Given the description of an element on the screen output the (x, y) to click on. 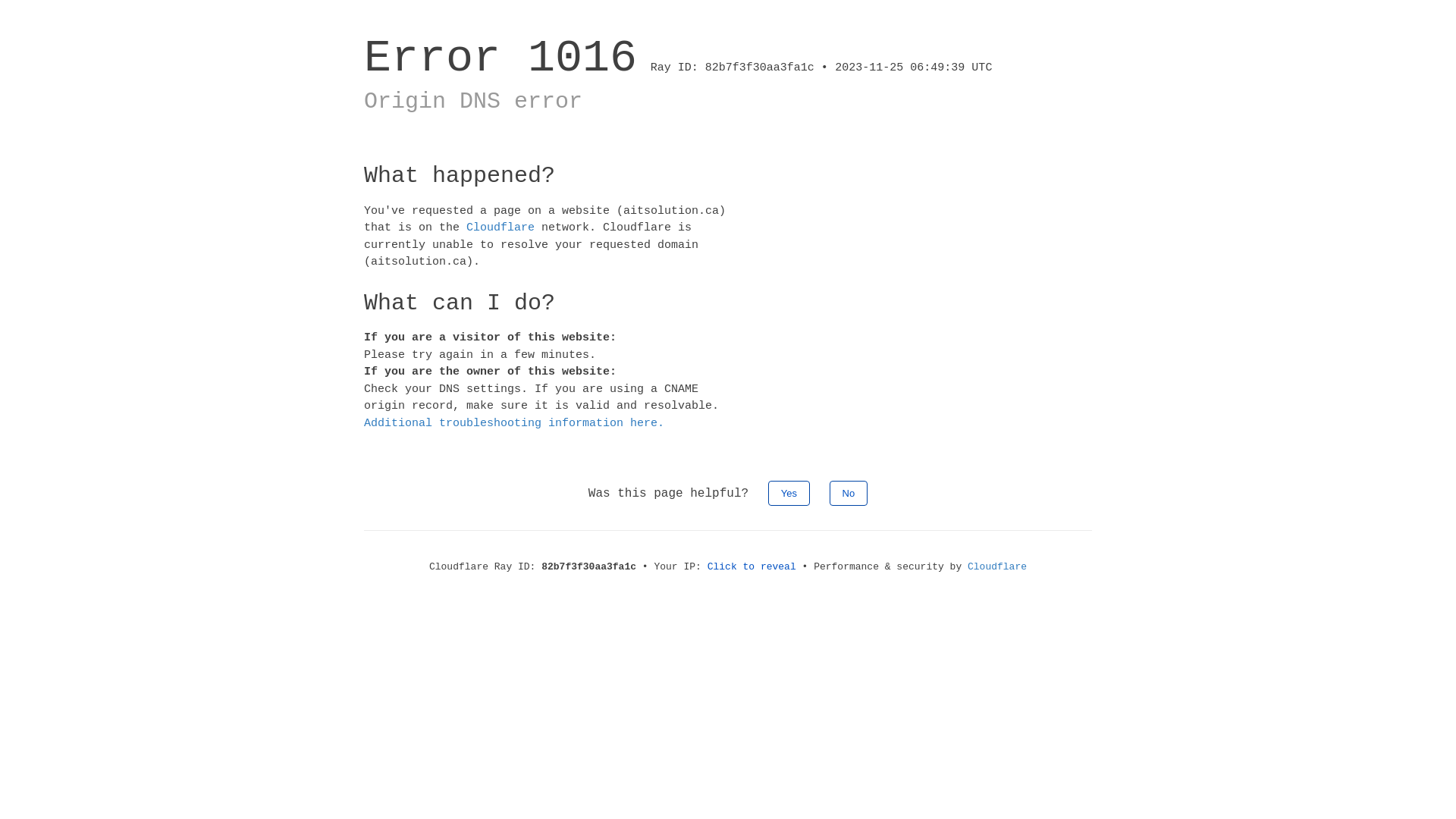
No Element type: text (848, 492)
Cloudflare Element type: text (500, 227)
Cloudflare Element type: text (996, 566)
Additional troubleshooting information here. Element type: text (514, 423)
Click to reveal Element type: text (751, 566)
Yes Element type: text (788, 492)
